Given the description of an element on the screen output the (x, y) to click on. 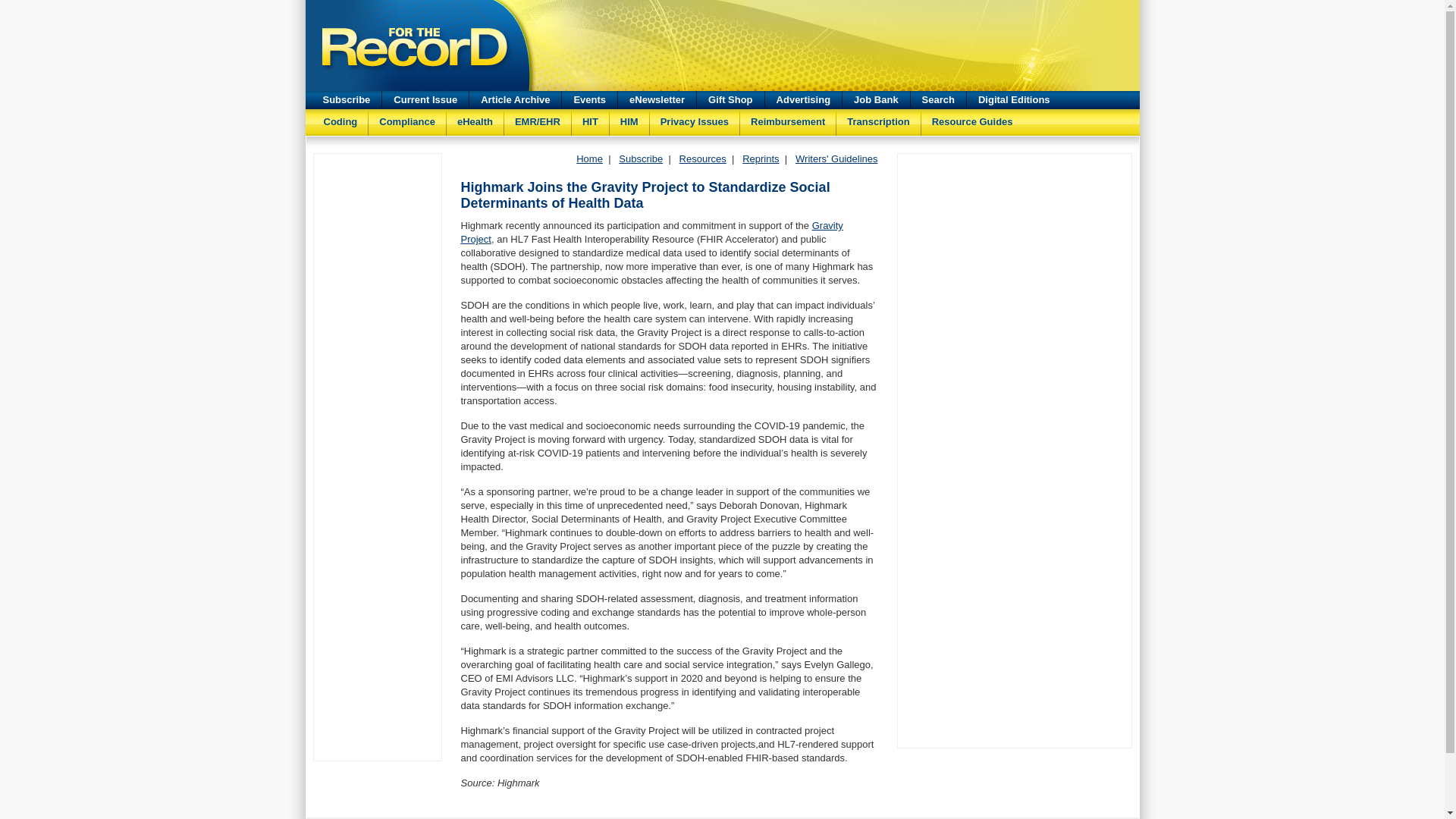
Current Issue (424, 99)
Coding (340, 118)
Reprints (760, 158)
Reimbursement (787, 118)
Search (938, 99)
Resource Guides (972, 118)
HIT (590, 118)
HIM (629, 118)
Gift Shop (730, 99)
Subscribe (640, 158)
